Given the description of an element on the screen output the (x, y) to click on. 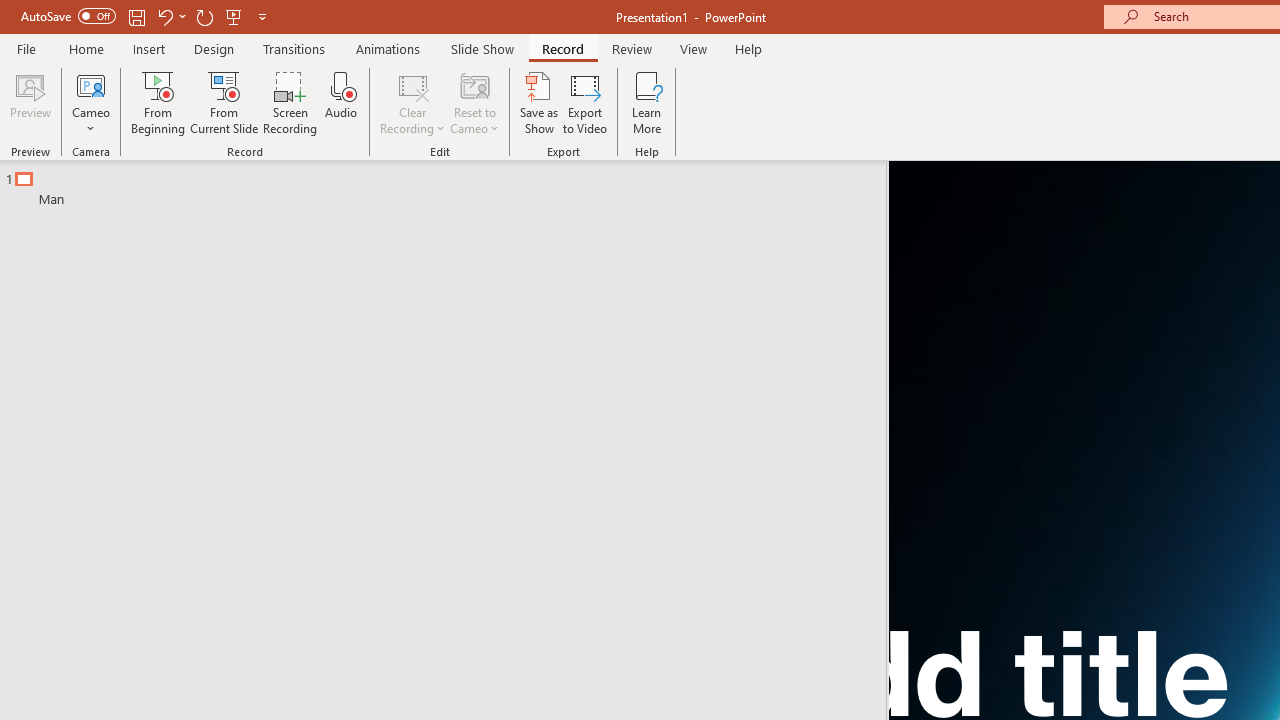
From Current Slide... (224, 102)
From Beginning... (158, 102)
Export to Video (585, 102)
